Given the description of an element on the screen output the (x, y) to click on. 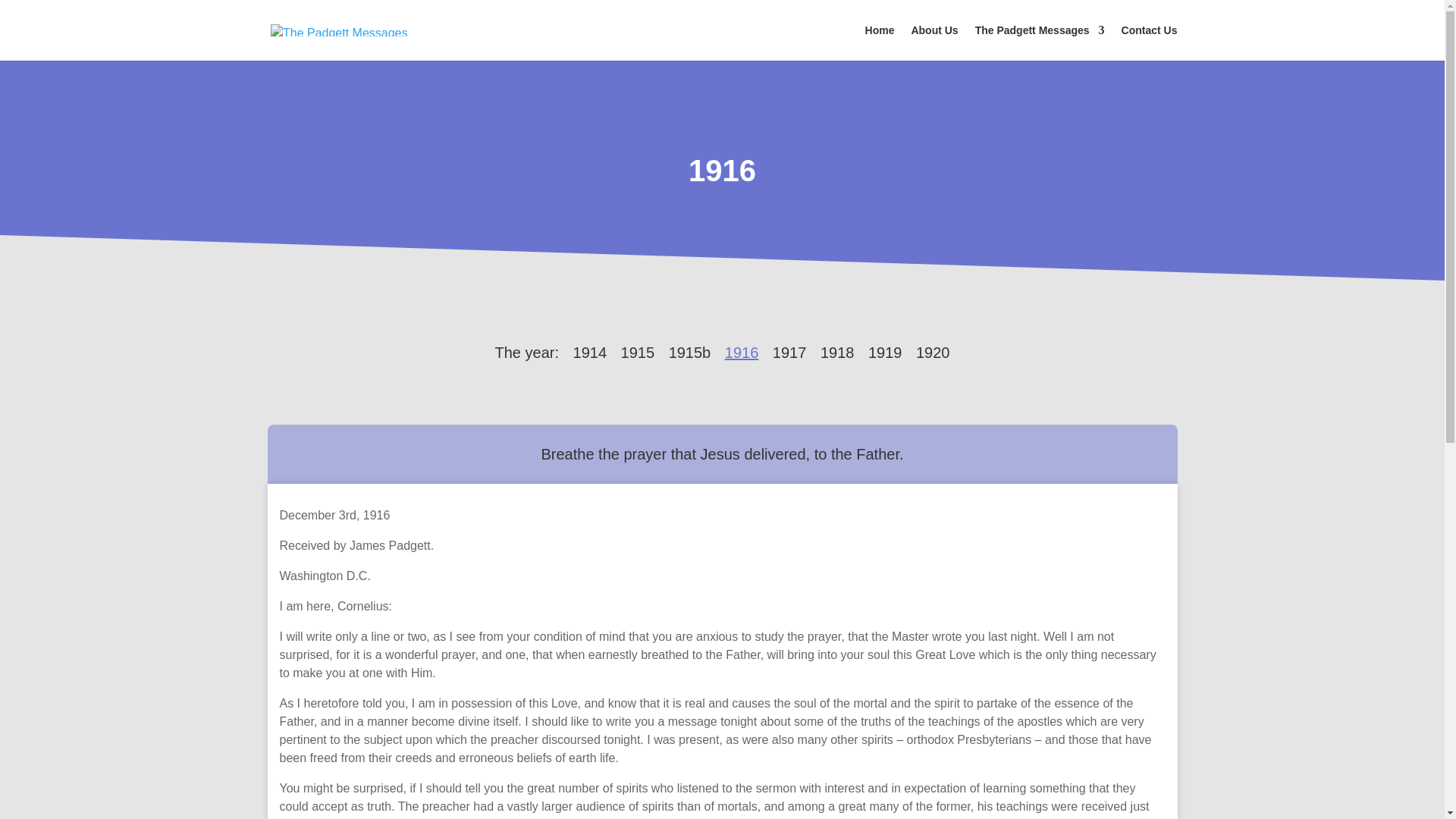
1918 (837, 352)
The Padgett Messages (1040, 42)
1916 (721, 170)
About Us (934, 42)
1919 (884, 352)
1914 (590, 352)
1917 (789, 352)
1915b (689, 352)
1916 (741, 352)
1915 (638, 352)
